Given the description of an element on the screen output the (x, y) to click on. 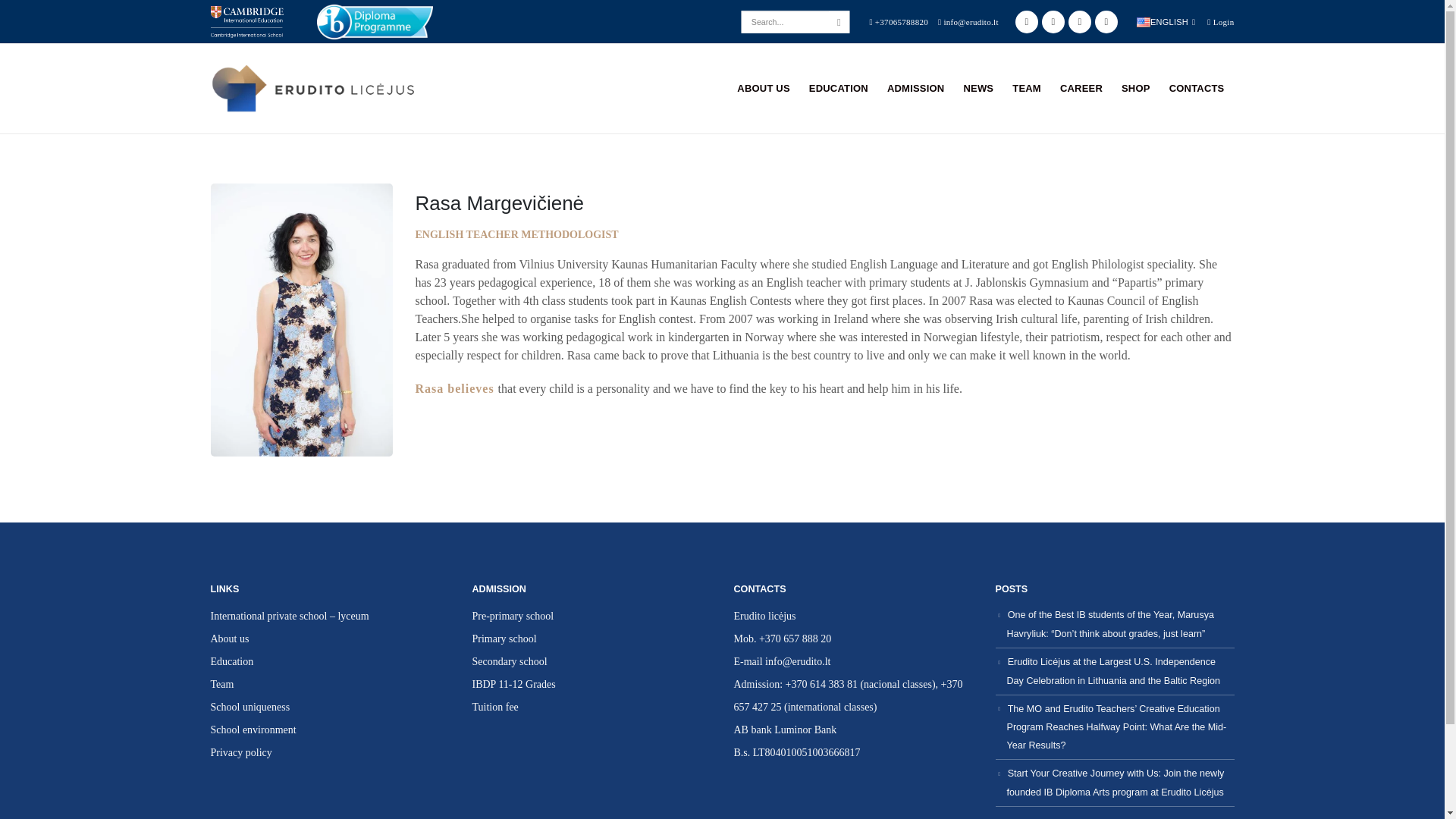
Facebook (1026, 21)
NEWS (978, 88)
ADMISSION (915, 88)
Youtube (1053, 21)
ABOUT US (763, 88)
LinkedIn (1106, 21)
TEAM (1026, 88)
ENGLISH (1165, 21)
EDUCATION (838, 88)
Search (840, 23)
Login (1220, 20)
Instagram (1079, 21)
